Given the description of an element on the screen output the (x, y) to click on. 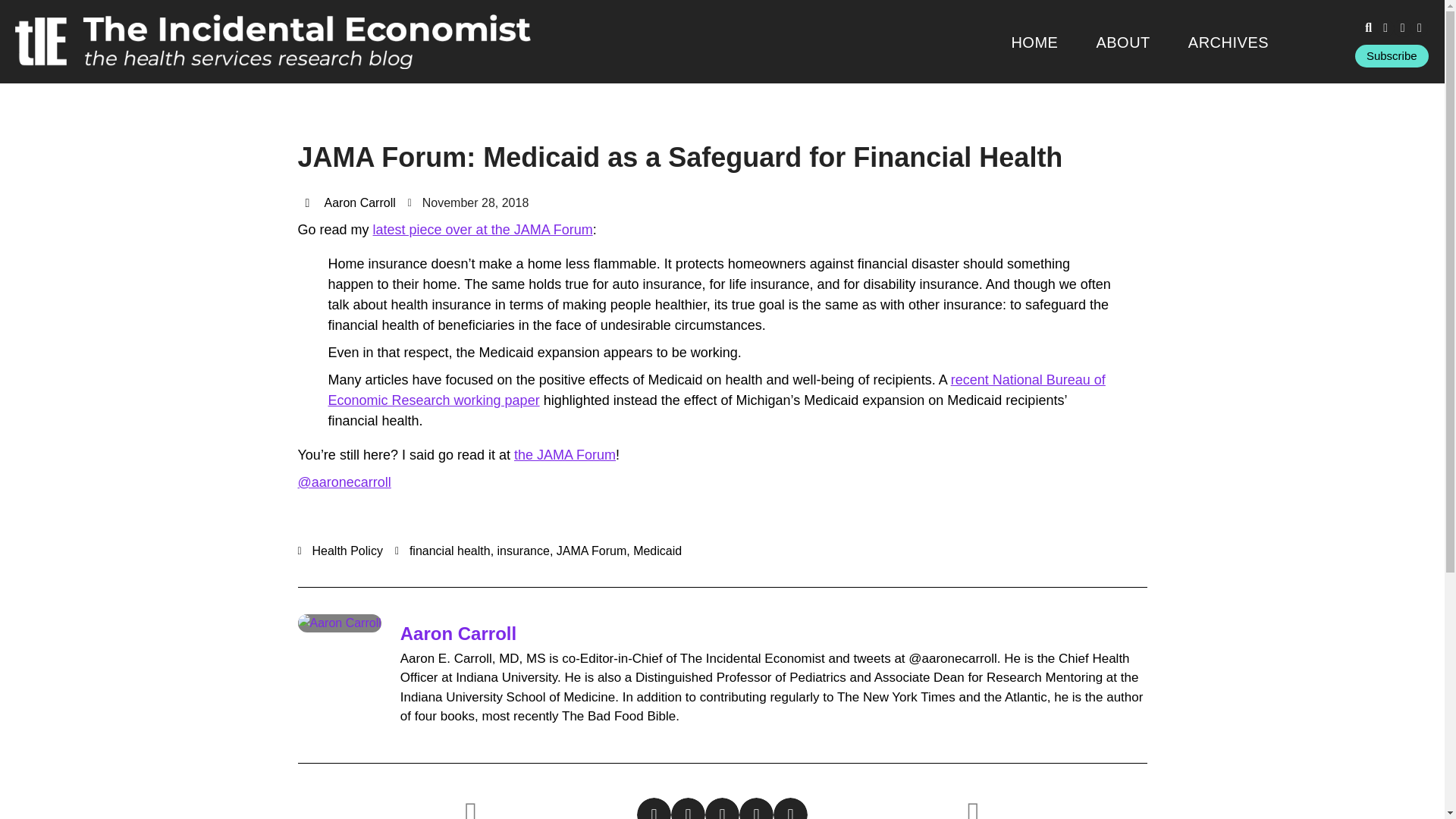
Aaron Carroll (349, 203)
November 28, 2018 (468, 203)
insurance (523, 550)
financial health (449, 550)
latest piece over at the JAMA Forum (482, 229)
Aaron Carroll (458, 633)
ARCHIVES (1228, 41)
HOME (1034, 41)
JAMA Forum (591, 550)
Subscribe (1391, 56)
ABOUT (1122, 41)
recent National Bureau of Economic Research working paper (716, 389)
Health Policy (347, 550)
Medicaid (657, 550)
the JAMA Forum (564, 454)
